Given the description of an element on the screen output the (x, y) to click on. 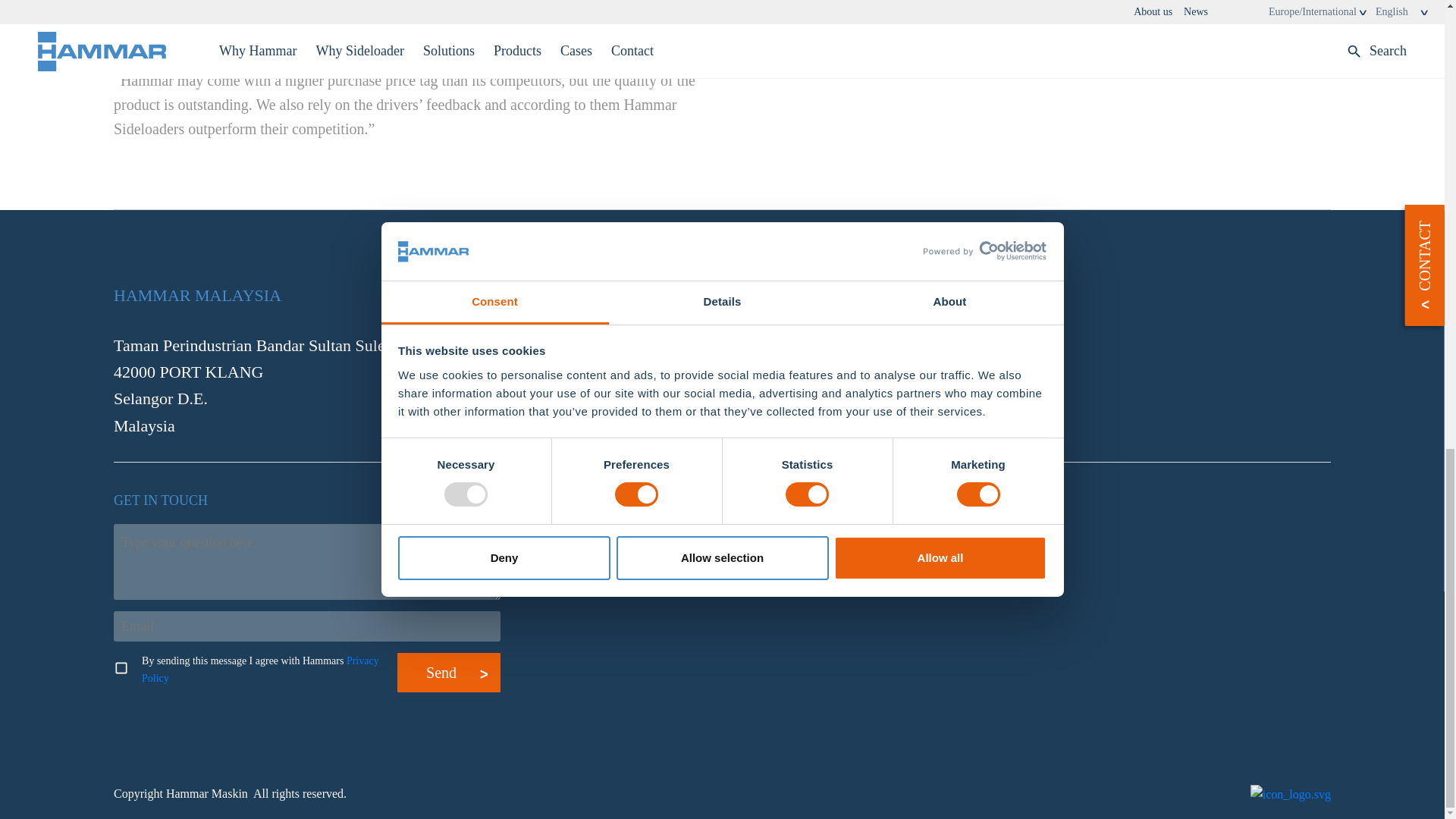
Send (448, 672)
